Given the description of an element on the screen output the (x, y) to click on. 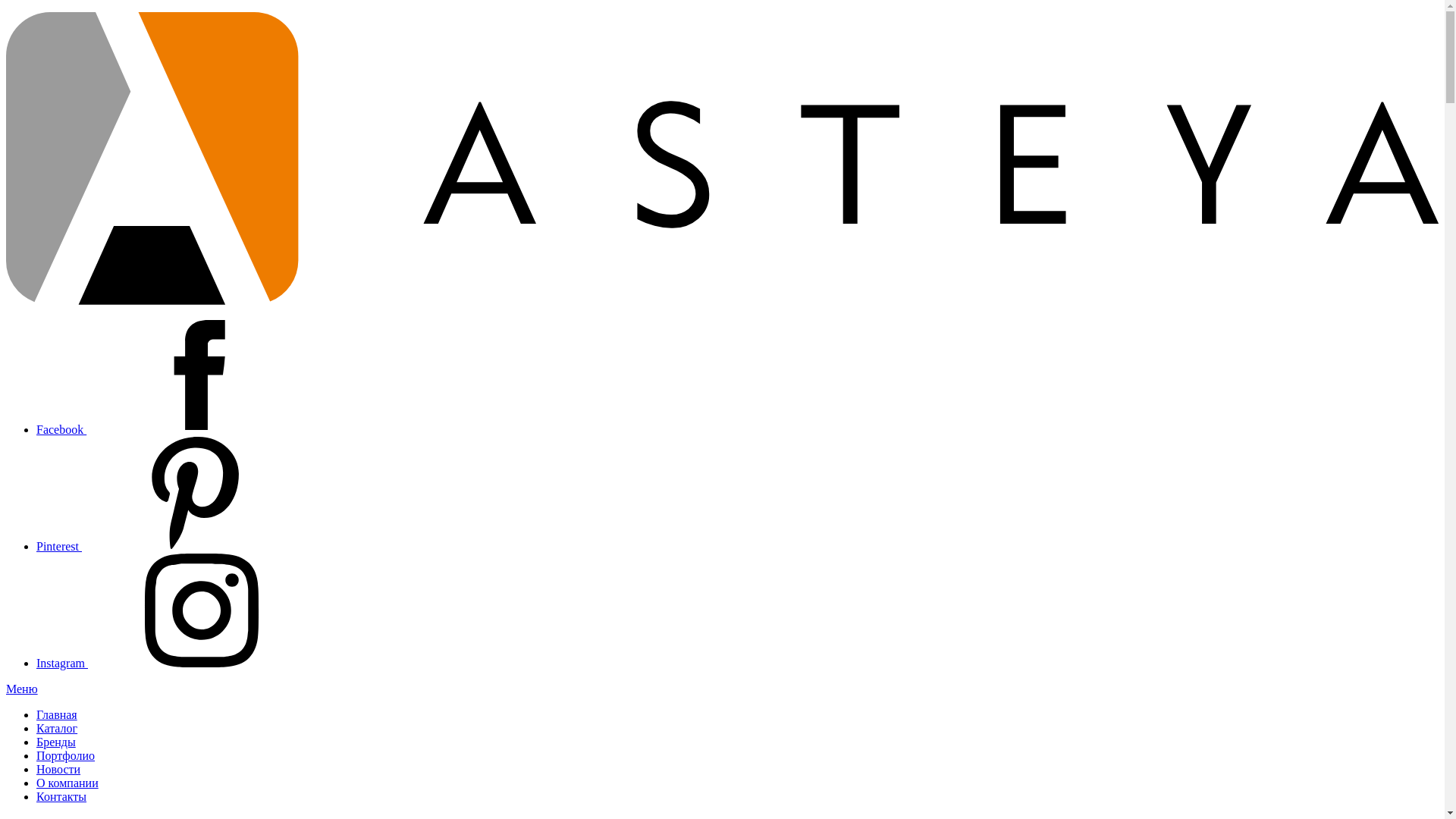
Facebook Element type: text (174, 429)
Pinterest Element type: text (172, 545)
Instagram Element type: text (175, 662)
